Given the description of an element on the screen output the (x, y) to click on. 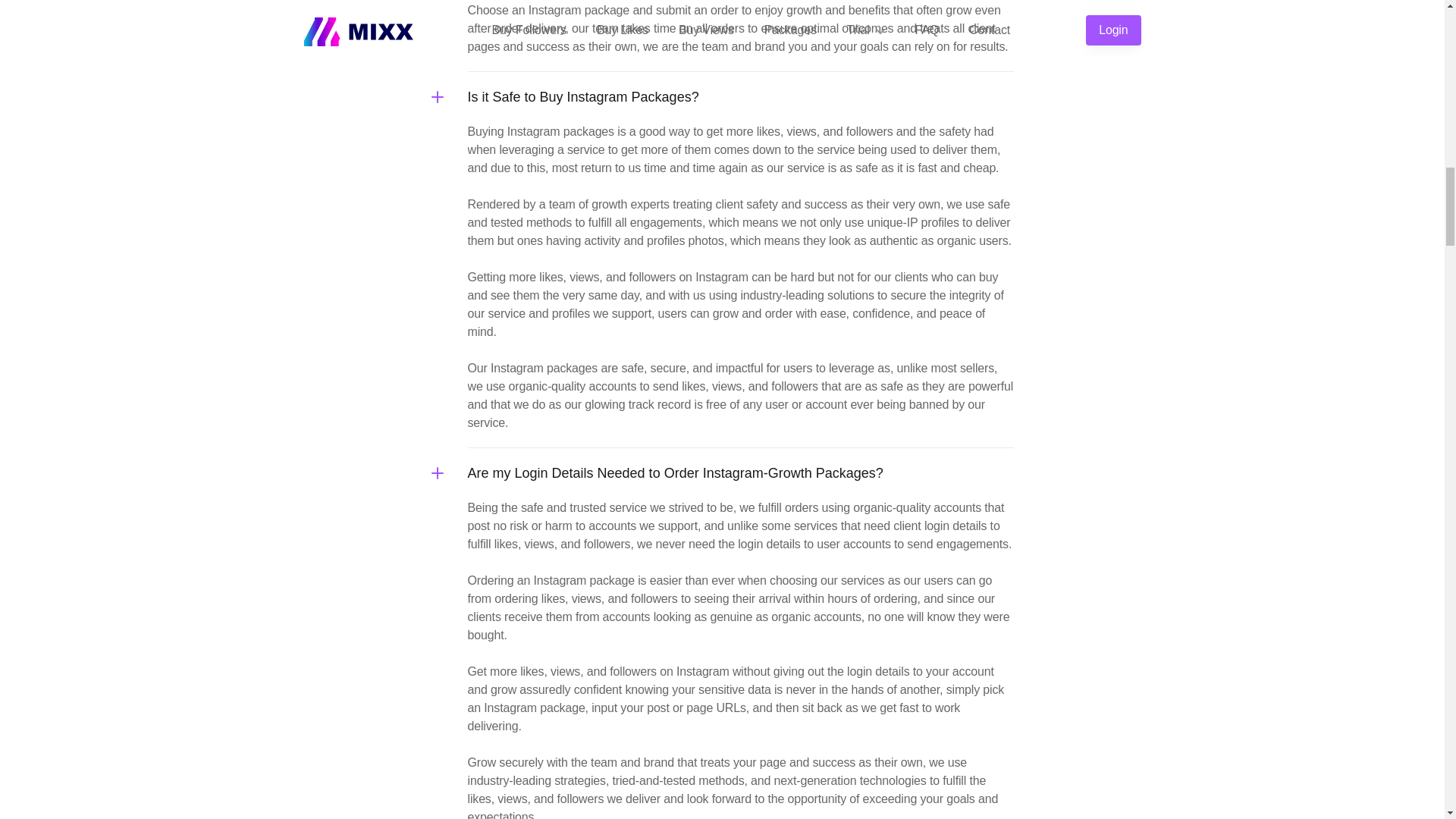
Is it Safe to Buy Instagram Packages? (740, 96)
